Given the description of an element on the screen output the (x, y) to click on. 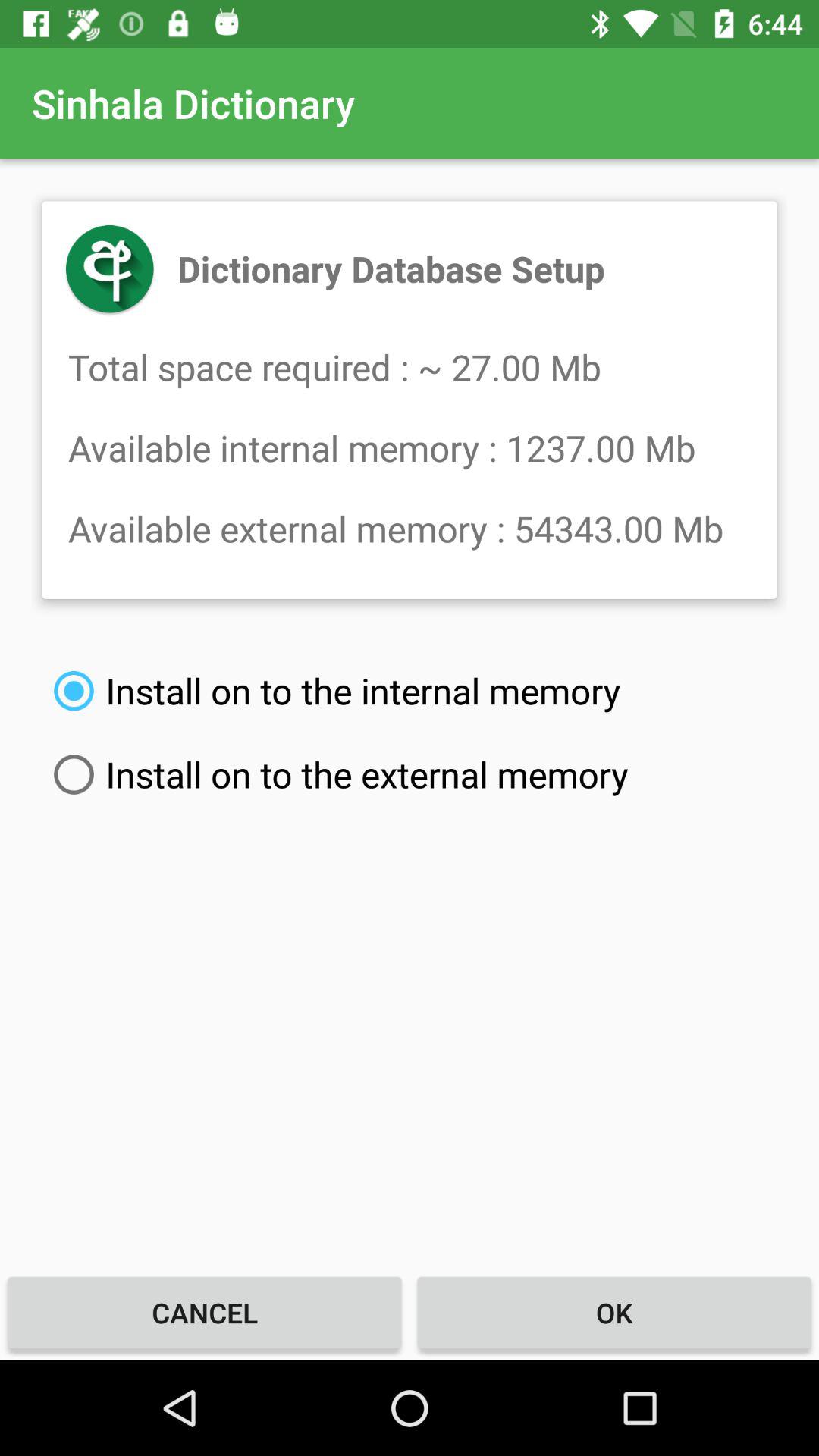
launch icon at the bottom right corner (614, 1312)
